Given the description of an element on the screen output the (x, y) to click on. 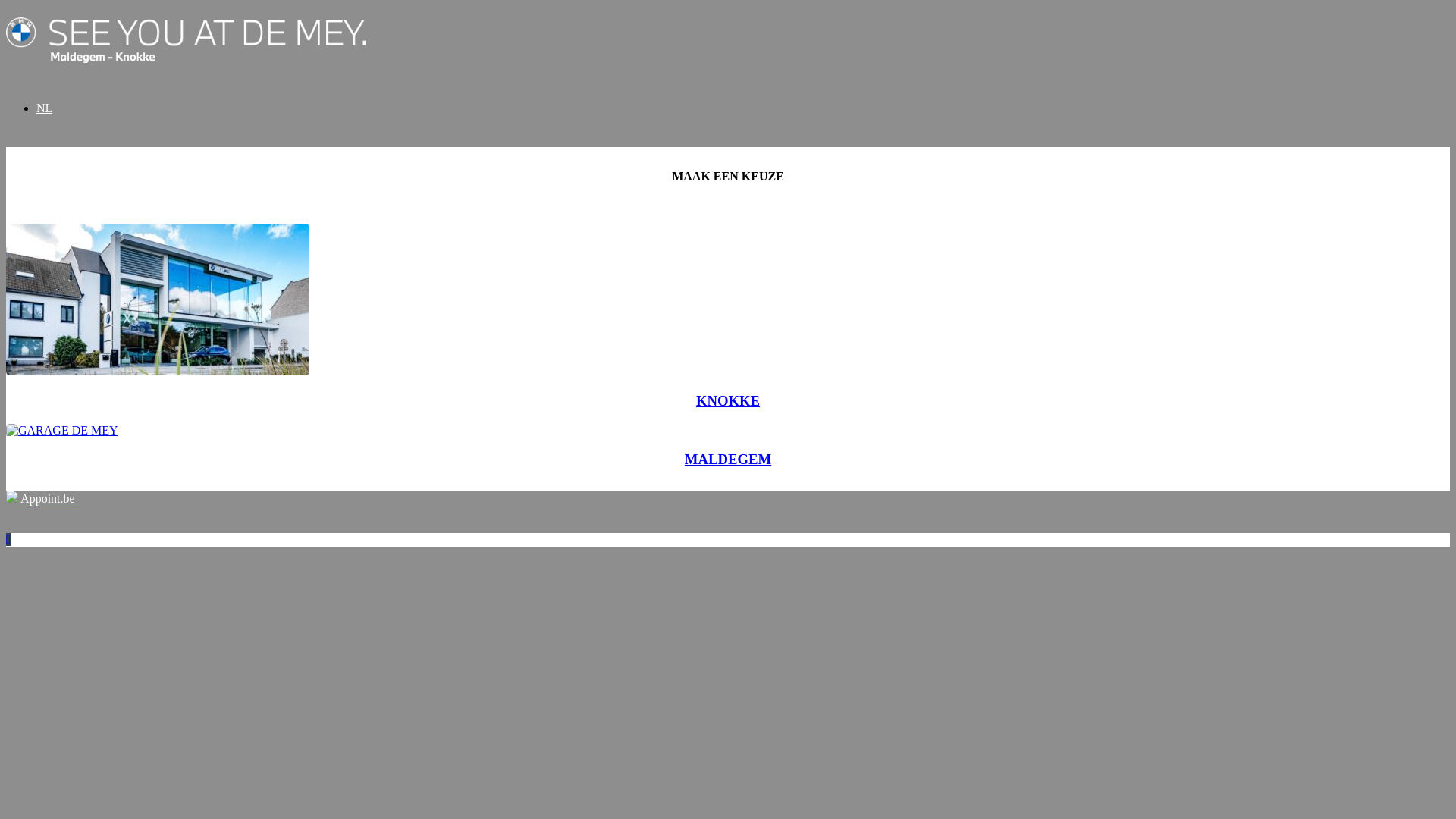
MALDEGEM Element type: text (727, 459)
 Appoint.be Element type: text (40, 498)
KNOKKE Element type: text (727, 400)
NL Element type: text (742, 108)
GARAGE DE MEY Element type: hover (157, 299)
GARAGE DE MEY Element type: hover (62, 430)
